Given the description of an element on the screen output the (x, y) to click on. 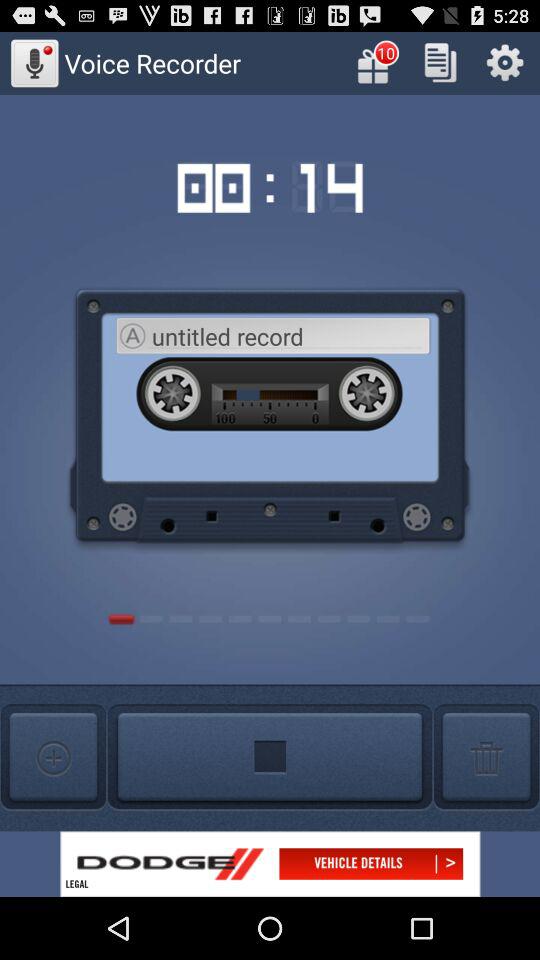
go to delete (486, 757)
